Given the description of an element on the screen output the (x, y) to click on. 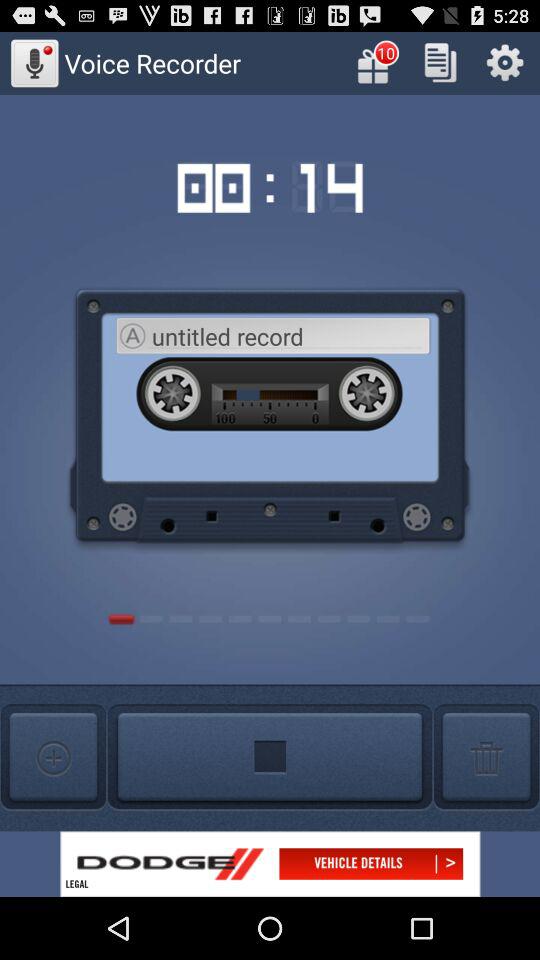
go to delete (486, 757)
